Given the description of an element on the screen output the (x, y) to click on. 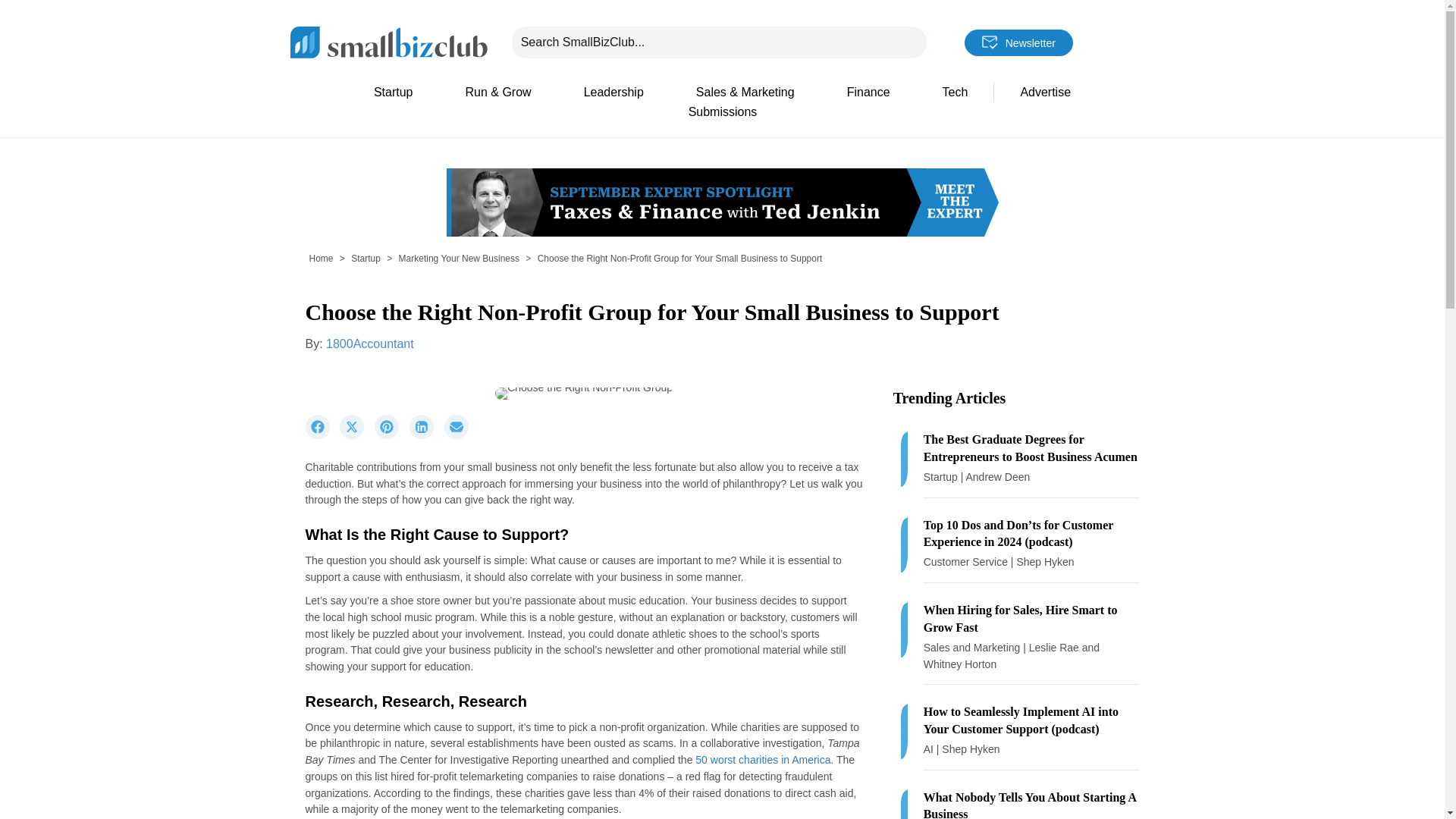
50 worst charities in America. (763, 759)
Leadership (613, 92)
SmallBizClub-Primary-Logo-2023 (387, 41)
Choose the Right Non-Profit Group (583, 393)
Tech (955, 92)
Share on Facebook (321, 435)
Finance (868, 92)
Share on LinkedIn (426, 435)
Home (320, 258)
Share on Pinterest (391, 435)
